Given the description of an element on the screen output the (x, y) to click on. 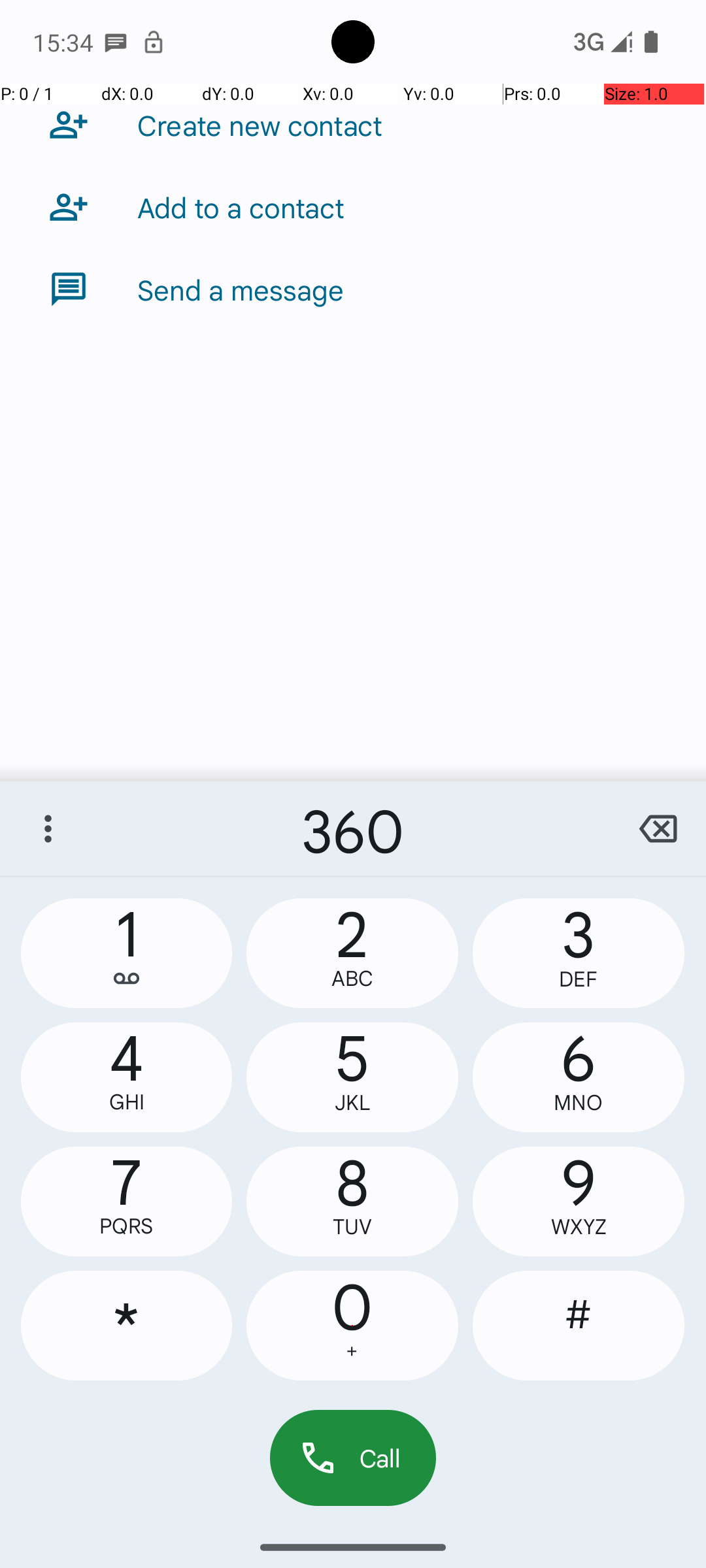
360 Element type: android.widget.EditText (352, 828)
